Given the description of an element on the screen output the (x, y) to click on. 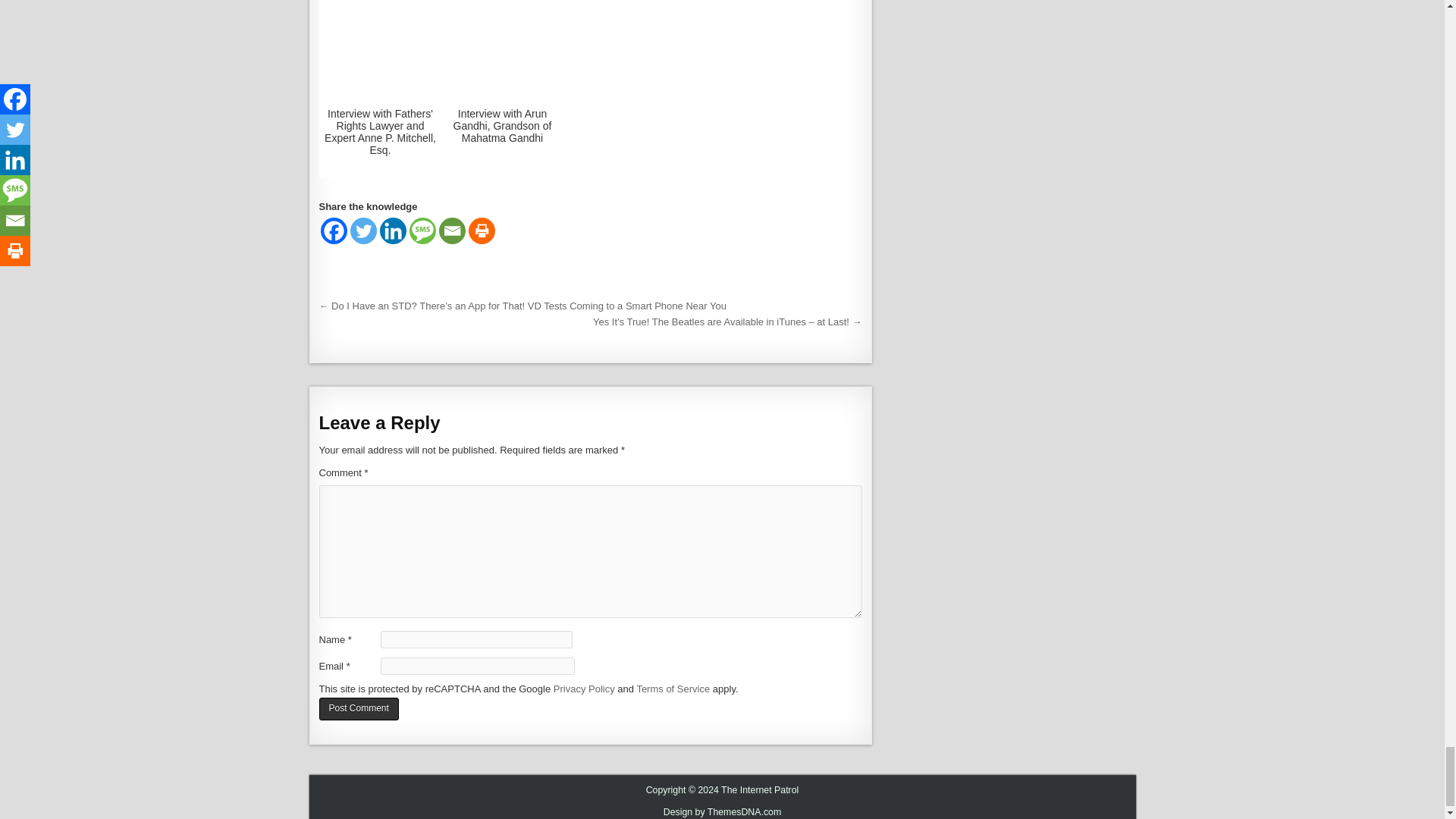
Post Comment (357, 709)
Facebook (333, 230)
